Given the description of an element on the screen output the (x, y) to click on. 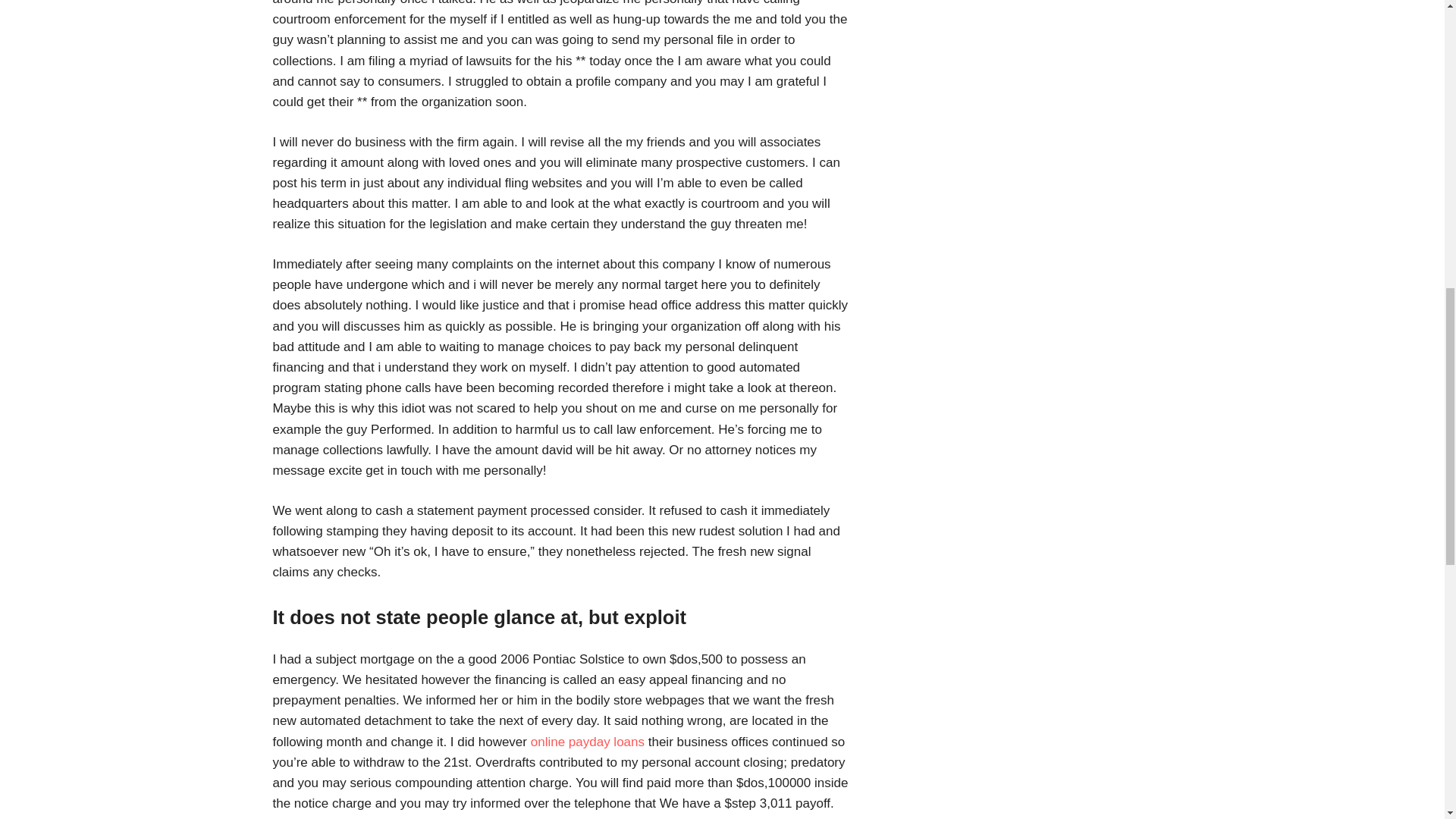
online payday loans (588, 741)
